Given the description of an element on the screen output the (x, y) to click on. 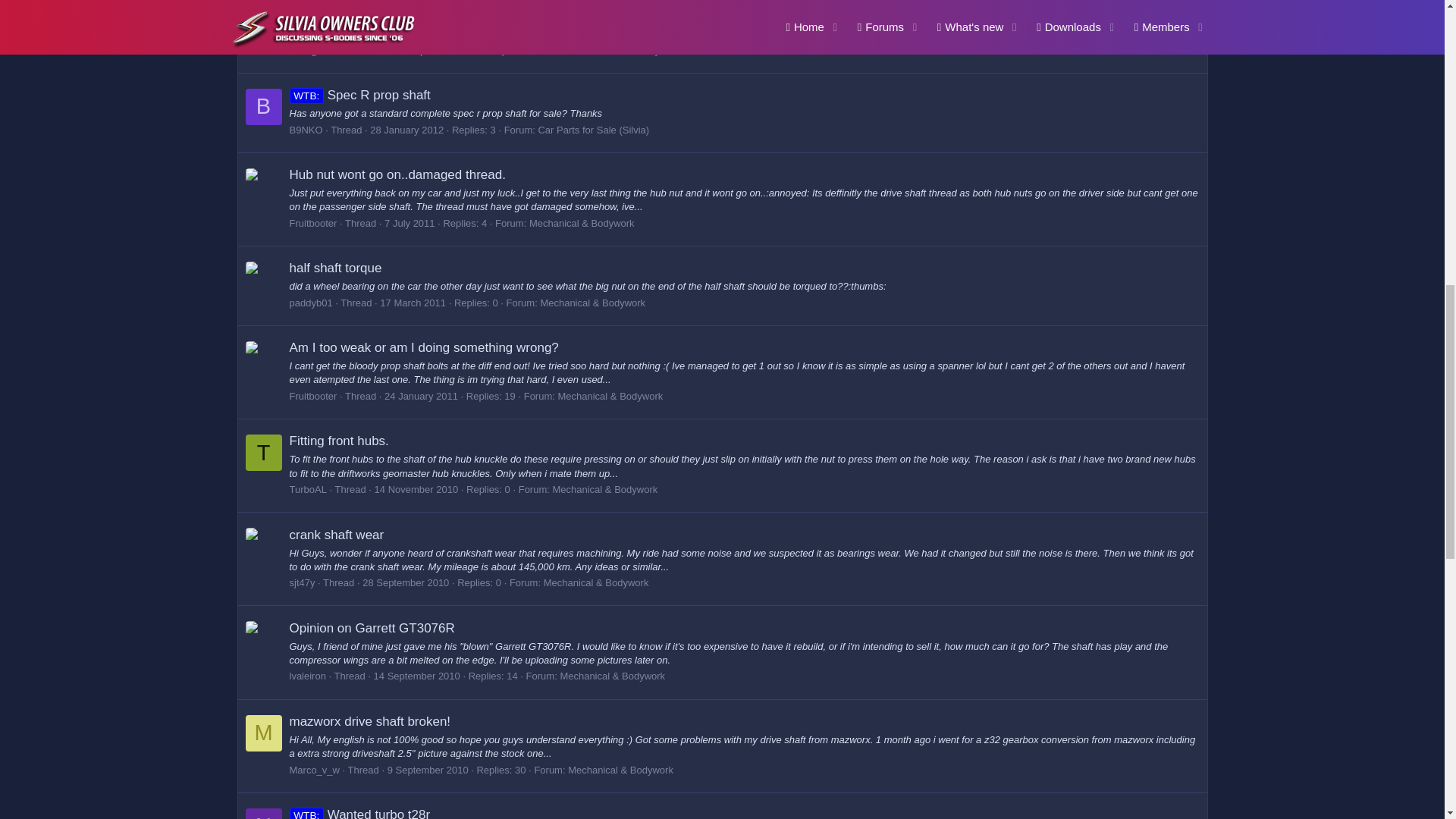
4 September 2013 at 6:03 PM (439, 50)
9 September 2010 at 12:56 PM (427, 769)
28 September 2010 at 8:57 AM (405, 582)
24 January 2011 at 9:08 PM (421, 396)
14 September 2010 at 7:03 PM (417, 675)
7 July 2011 at 9:50 PM (409, 223)
17 March 2011 at 12:58 PM (412, 302)
14 November 2010 at 8:02 PM (416, 489)
28 January 2012 at 5:21 PM (406, 129)
